Given the description of an element on the screen output the (x, y) to click on. 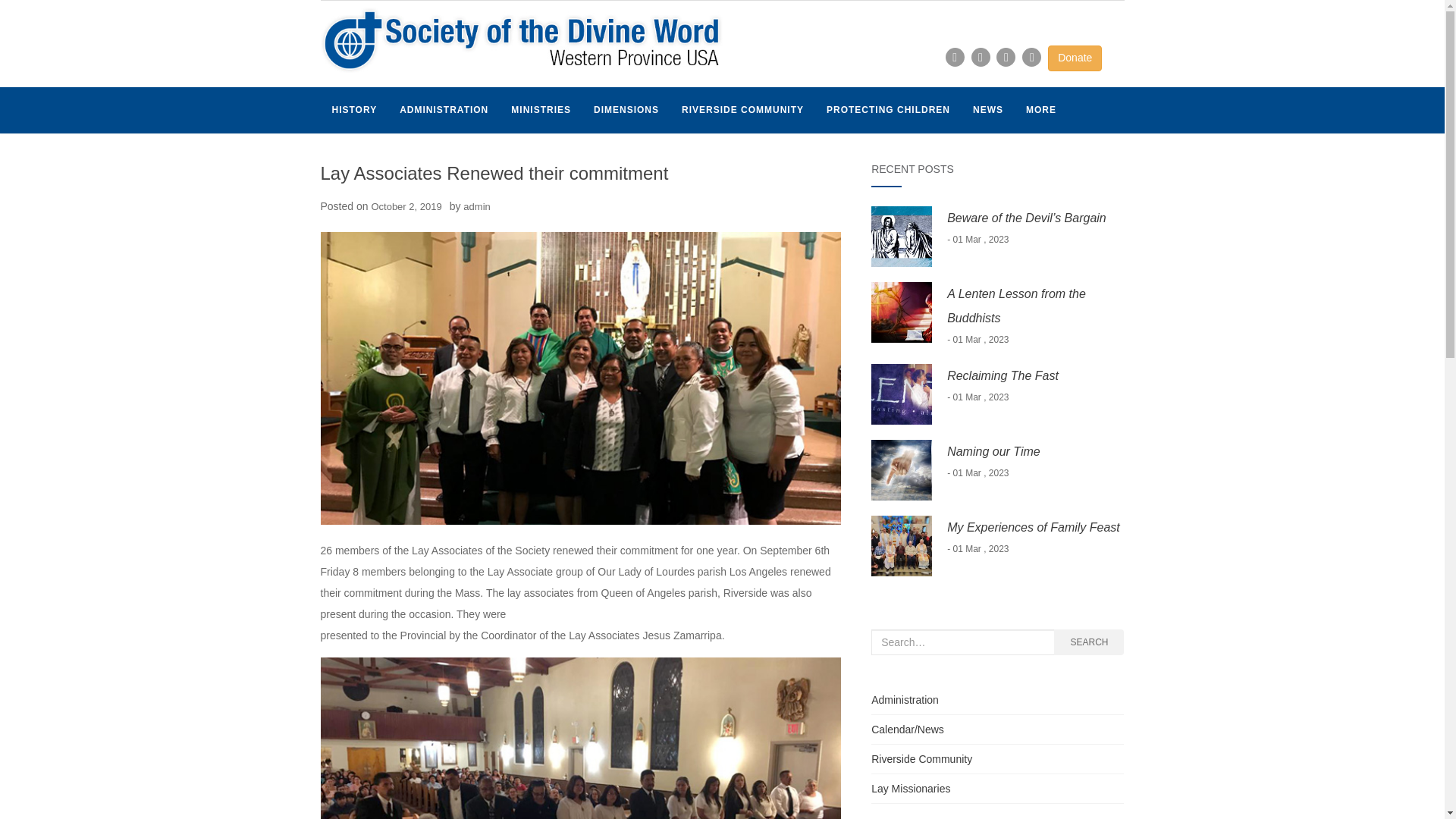
MORE (1040, 109)
PROTECTING CHILDREN (887, 109)
My Experiences of Family Feast (1033, 526)
NEWS (987, 109)
Reclaiming The Fast (1002, 375)
News (987, 109)
October 2, 2019 (406, 206)
Riverside Community (921, 758)
Ministries (540, 109)
Donate (1075, 58)
SEARCH (1089, 642)
HISTORY (354, 109)
More (1040, 109)
Dimensions (625, 109)
Administration (443, 109)
